Given the description of an element on the screen output the (x, y) to click on. 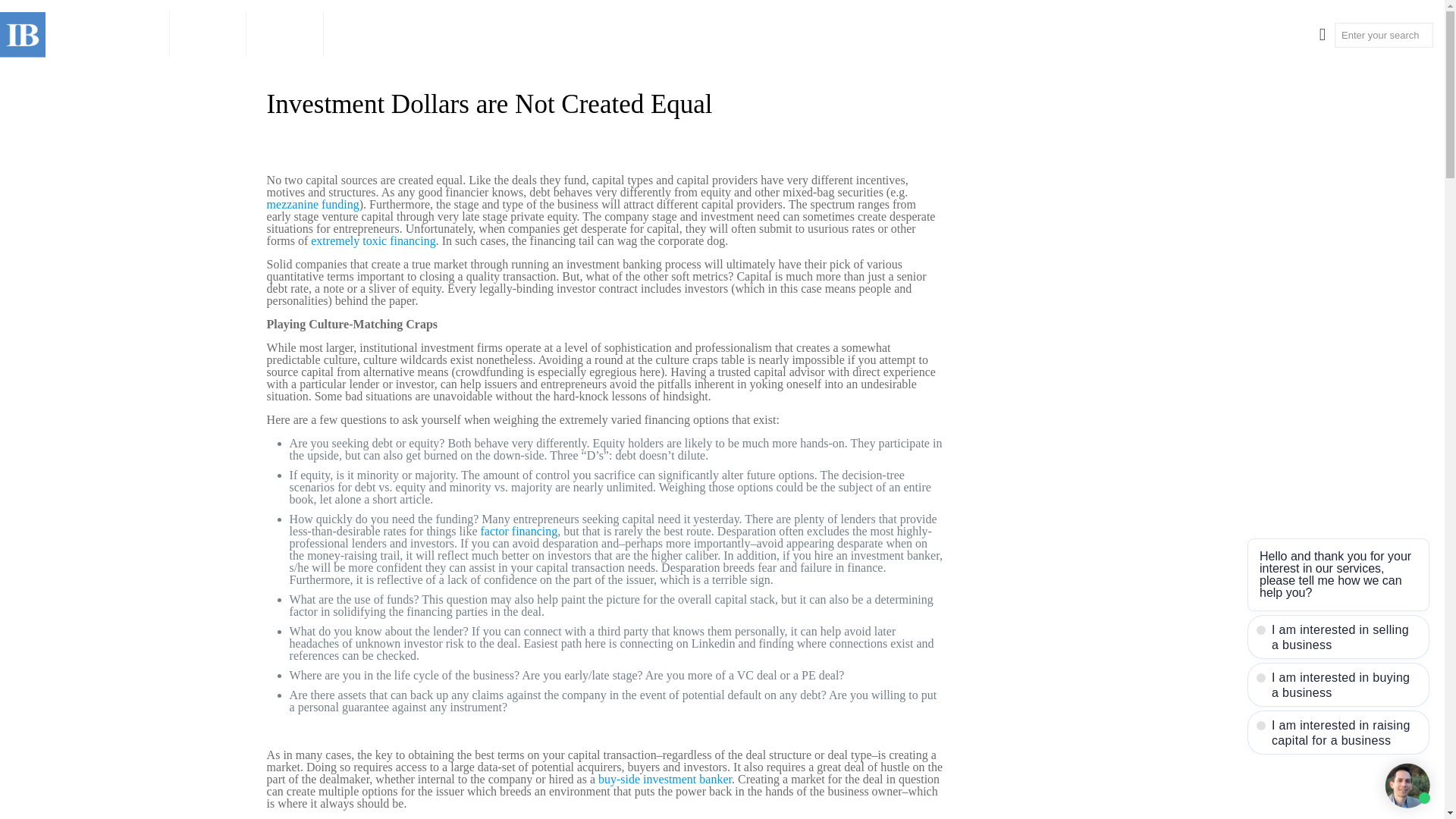
ABOUT (284, 33)
extremely toxic financing (373, 240)
DEALS (208, 33)
factor financing (517, 530)
buy-side investment banker (665, 779)
CONTACT (371, 33)
mezzanine funding (312, 204)
ADVISORY (119, 33)
